Given the description of an element on the screen output the (x, y) to click on. 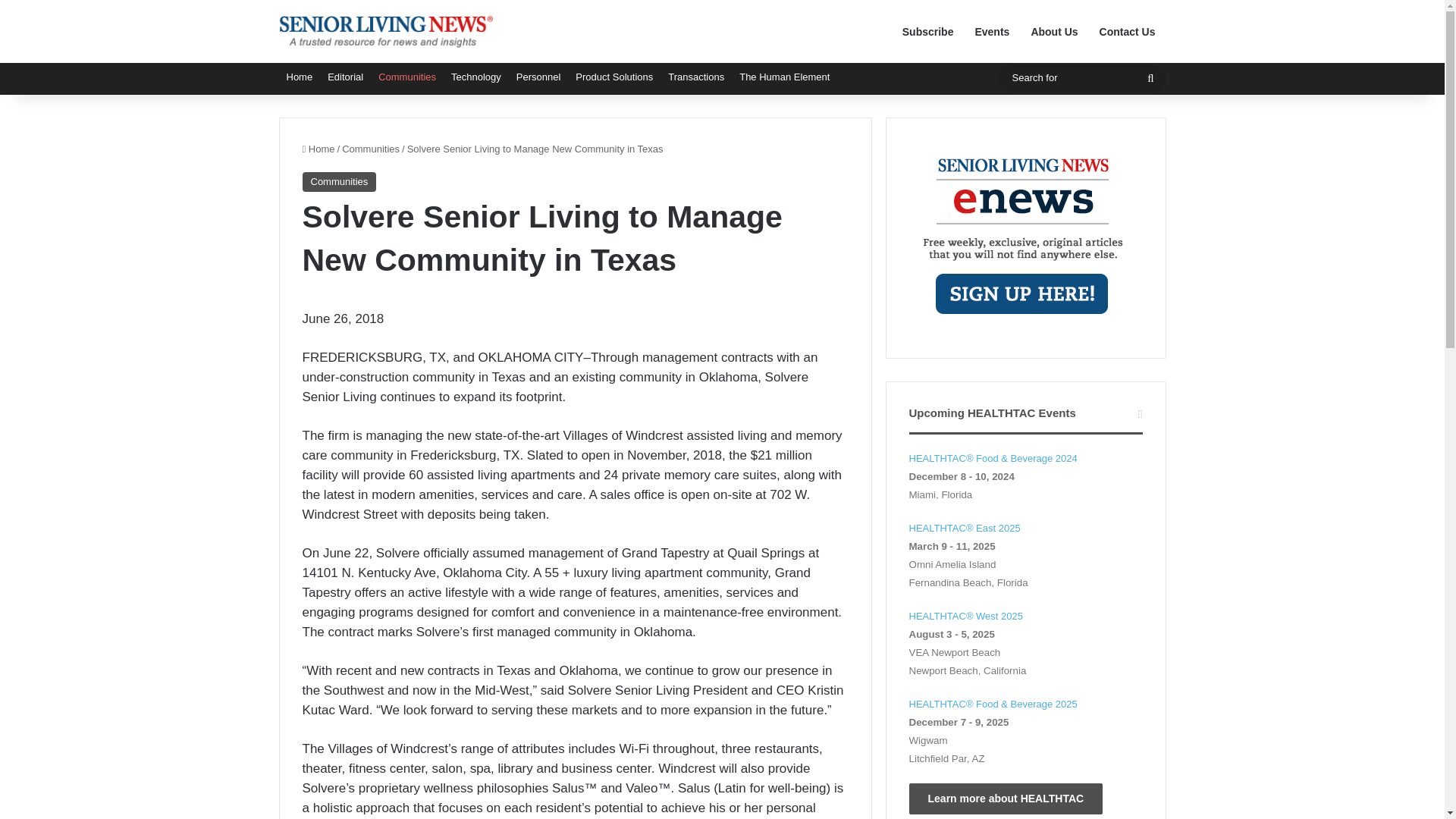
Editorial (345, 77)
Product Solutions (614, 77)
Technology (476, 77)
Events (991, 31)
Search for (1081, 77)
Senior Living News (387, 31)
Home (299, 77)
The Human Element (784, 77)
Communities (338, 181)
Learn more about HEALTHTAC (1005, 798)
